Given the description of an element on the screen output the (x, y) to click on. 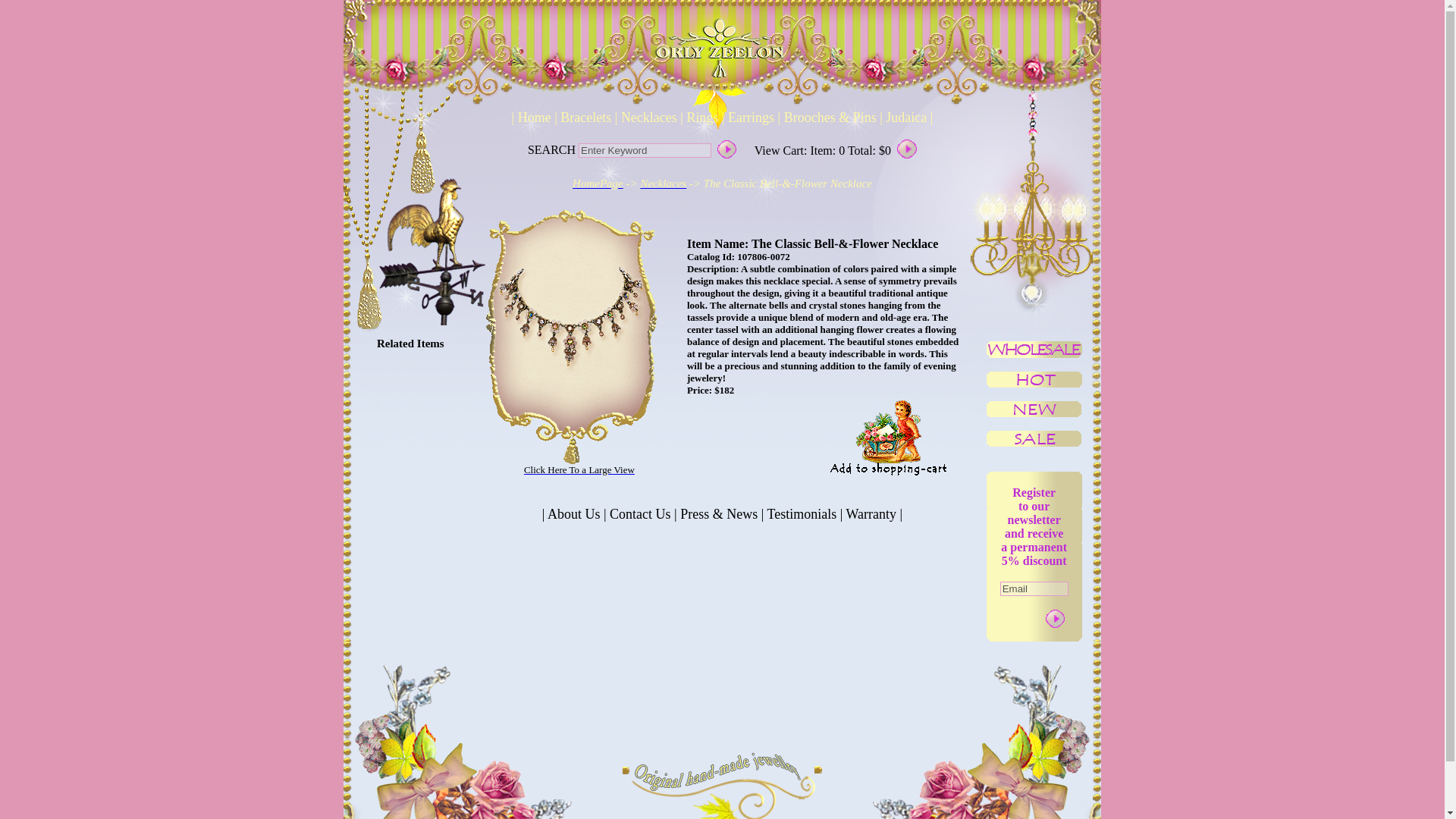
Bracelets (585, 117)
Testimonials (801, 513)
Necklaces (662, 183)
About Us (574, 513)
Warranty (871, 513)
Judaica (906, 117)
Contact Us (641, 513)
Rings (702, 117)
Necklaces (648, 117)
Enter Keyword (644, 150)
Email (1034, 587)
Click Here To a Large View (579, 468)
HomePage (597, 182)
Earrings (749, 117)
Home (533, 117)
